Given the description of an element on the screen output the (x, y) to click on. 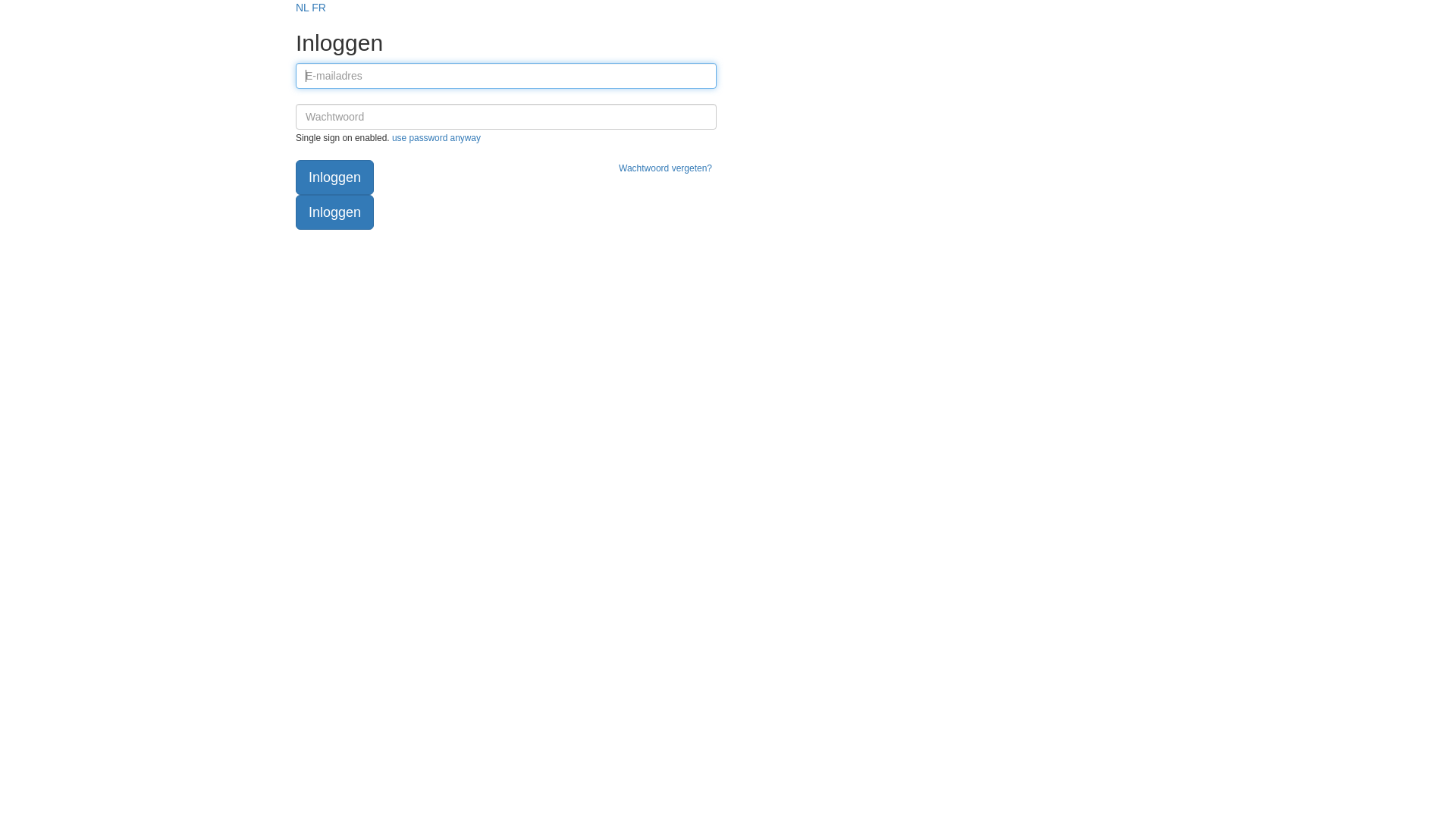
FR Element type: text (318, 7)
NL Element type: text (303, 7)
Inloggen Element type: text (334, 211)
Inloggen Element type: text (334, 177)
use password anyway Element type: text (436, 137)
Wachtwoord vergeten? Element type: text (665, 168)
